Given the description of an element on the screen output the (x, y) to click on. 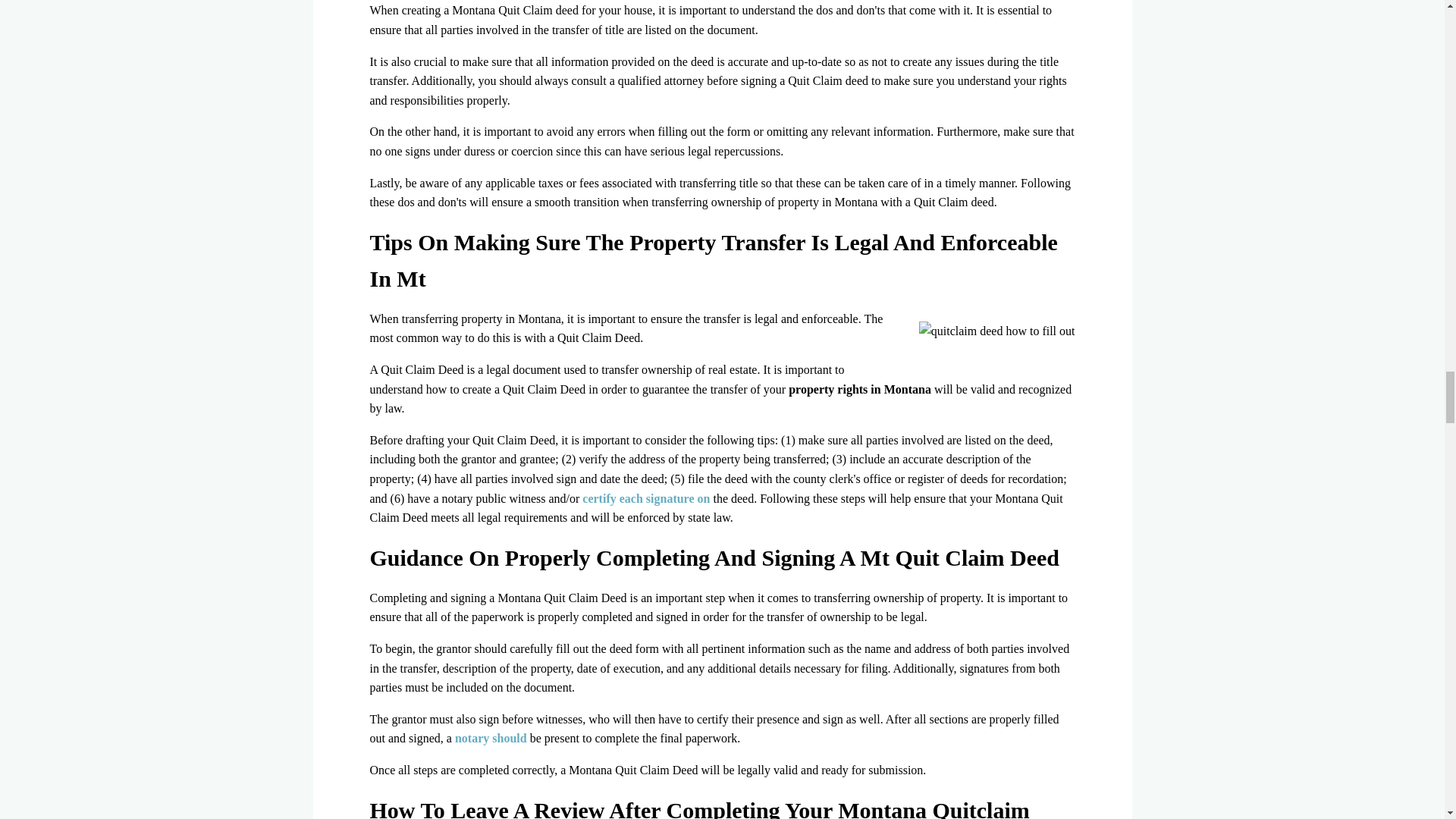
certify each signature on (646, 498)
notary should (490, 738)
